Given the description of an element on the screen output the (x, y) to click on. 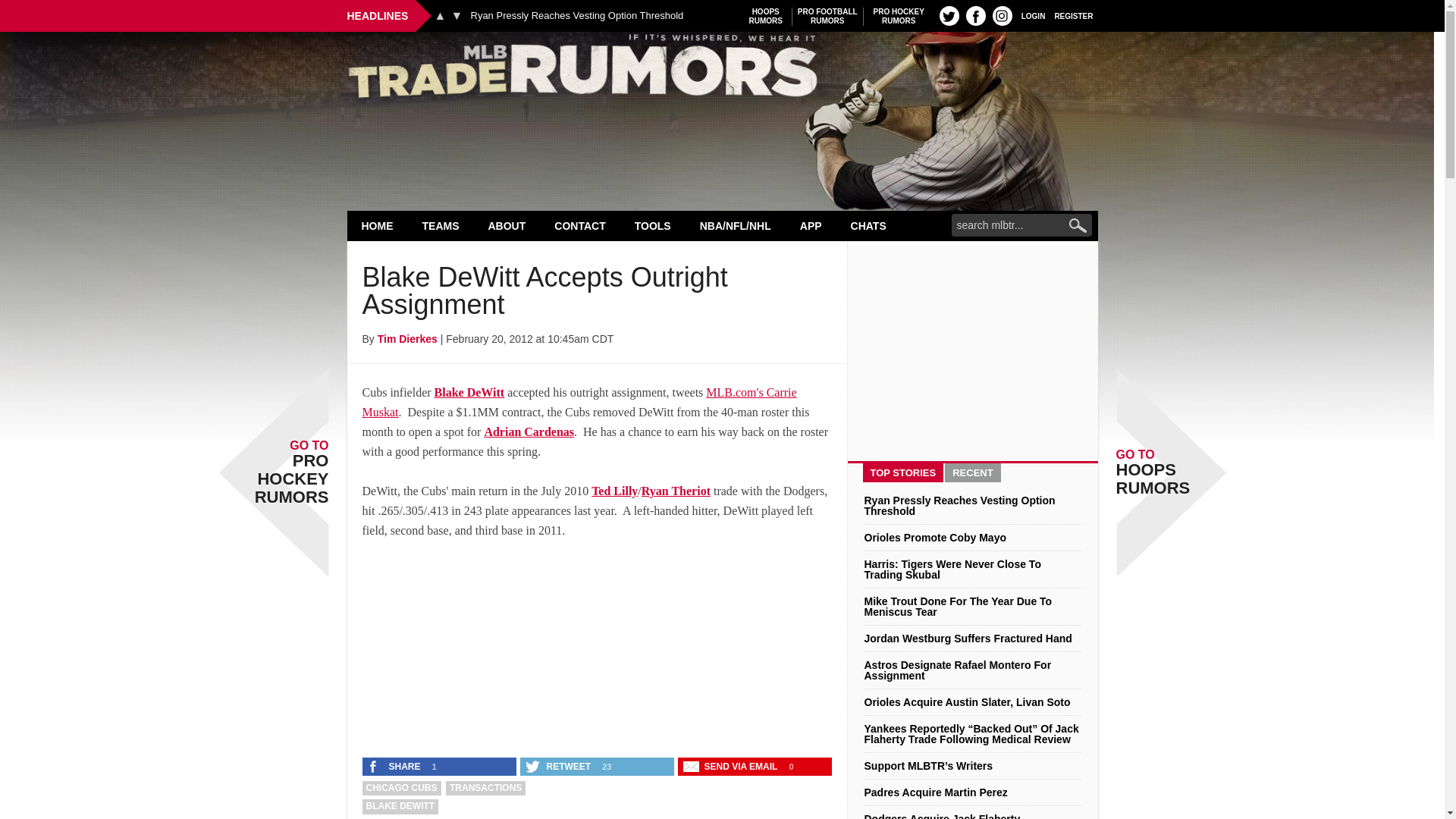
HOME (377, 225)
MLB Trade Rumors (722, 69)
Previous (439, 15)
Instagram profile (1001, 15)
Twitter profile (949, 15)
Send Blake DeWitt Accepts Outright Assignment with an email (732, 766)
TEAMS (440, 225)
Next (456, 15)
Ryan Pressly Reaches Vesting Option Threshold (576, 15)
FB profile (975, 15)
Share 'Blake DeWitt Accepts Outright Assignment' on Facebook (765, 16)
LOGIN (827, 16)
